Given the description of an element on the screen output the (x, y) to click on. 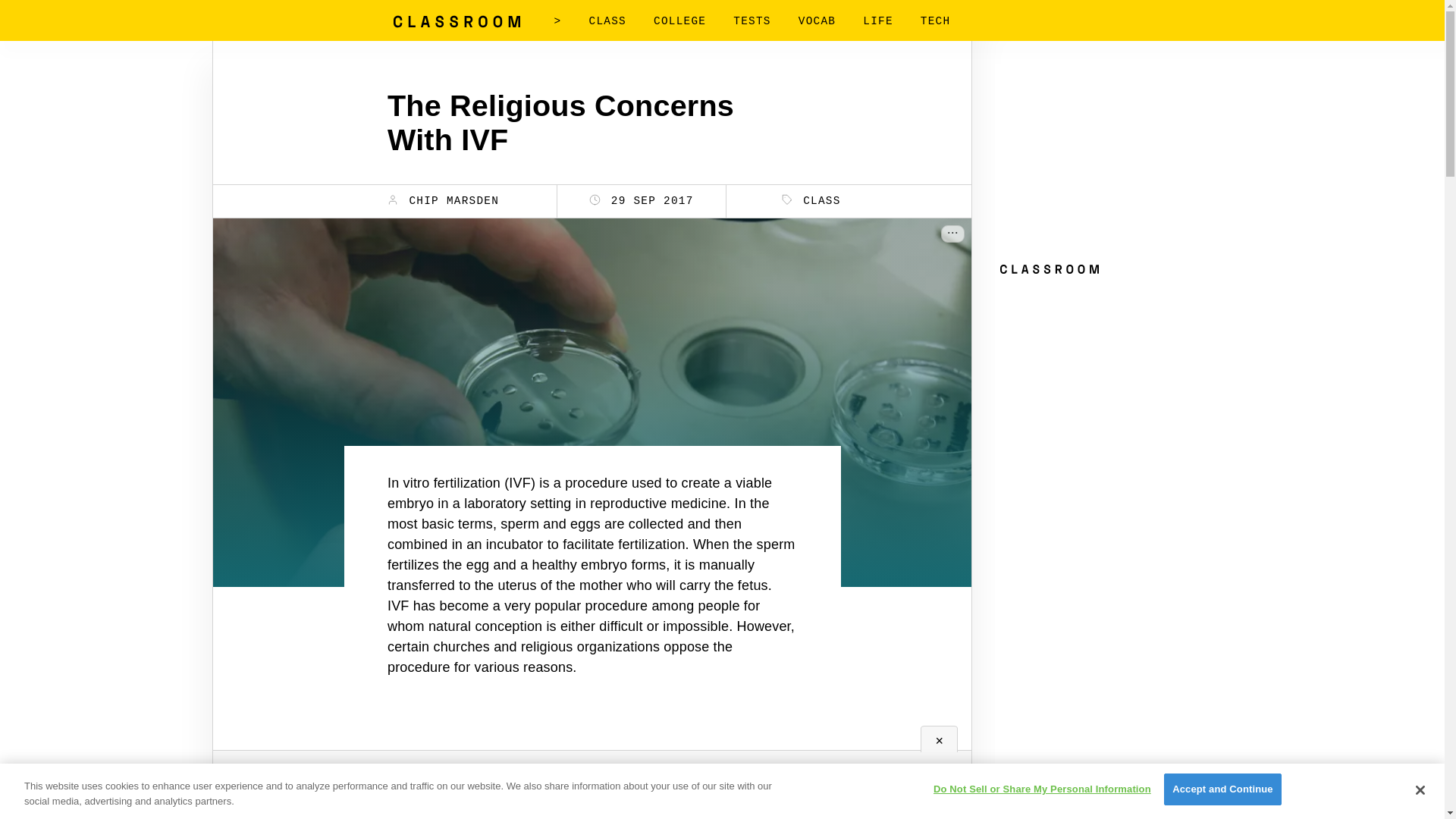
TESTS (751, 21)
3rd party ad content (592, 775)
LIFE (878, 21)
3rd party ad content (1108, 158)
CLASS (607, 21)
3rd party ad content (1108, 376)
TECH (935, 21)
CLASS (811, 200)
VOCAB (816, 21)
COLLEGE (679, 21)
